Given the description of an element on the screen output the (x, y) to click on. 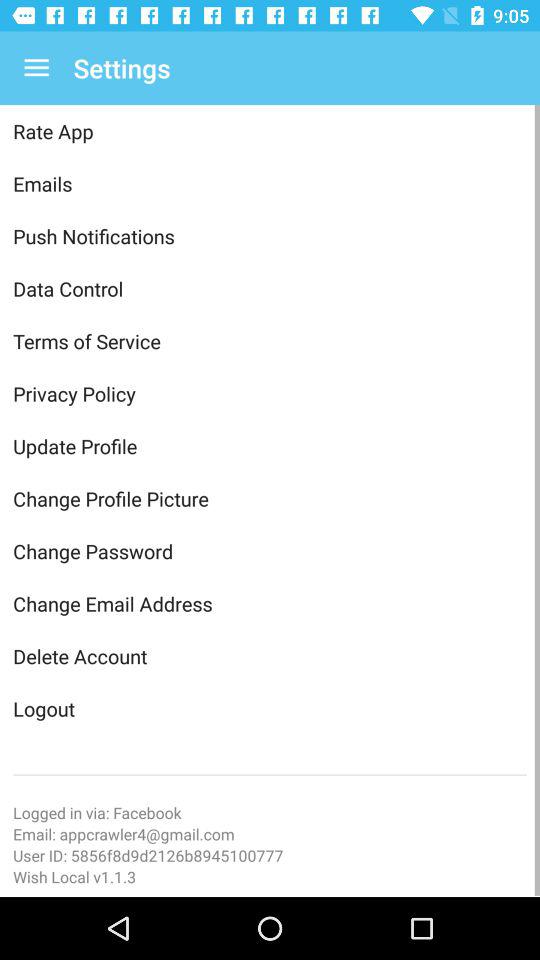
open the item below data control icon (269, 341)
